Given the description of an element on the screen output the (x, y) to click on. 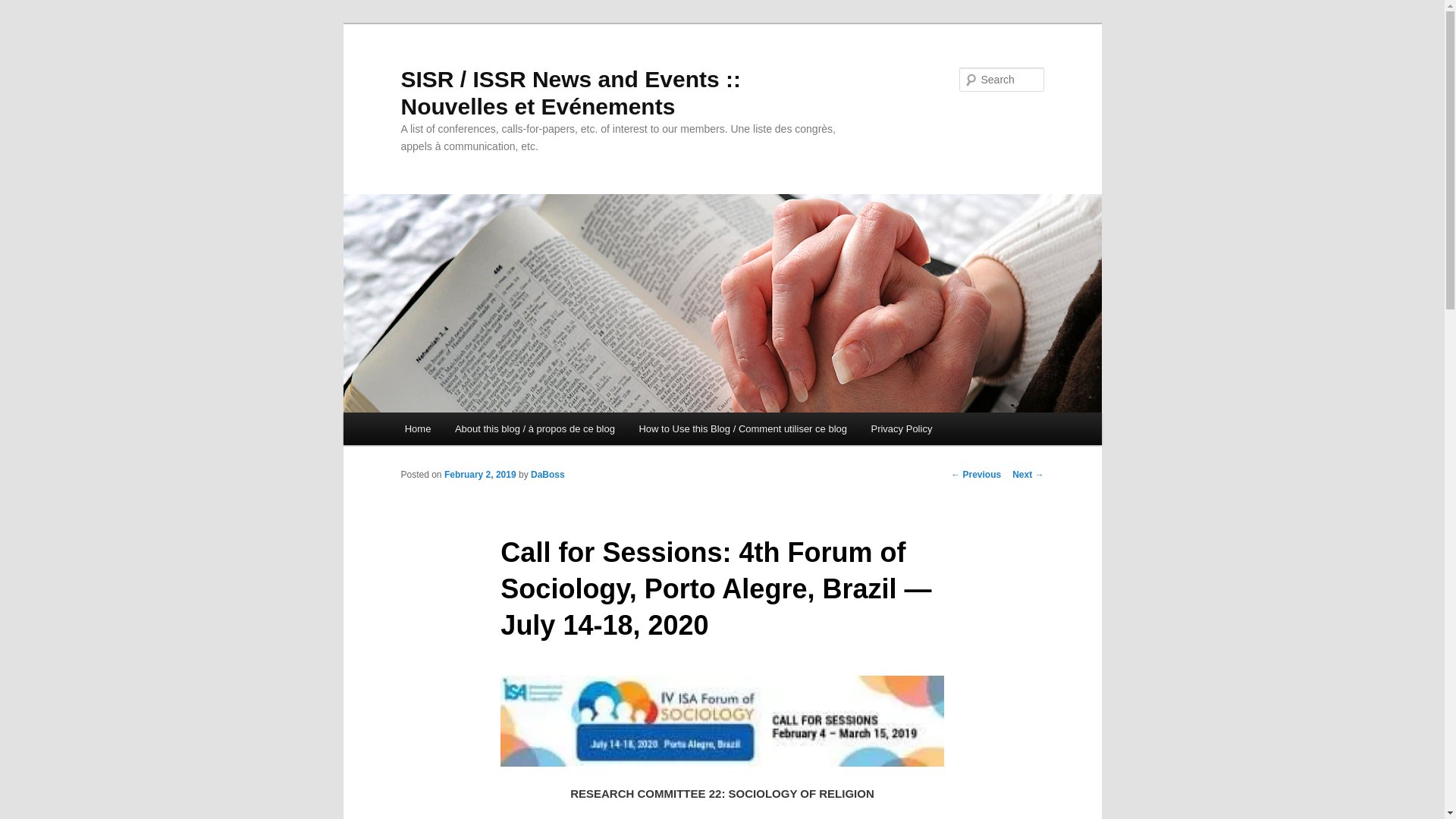
Privacy Policy (901, 428)
View all posts by DaBoss (547, 474)
Search (24, 8)
Home (417, 428)
February 2, 2019 (480, 474)
4:17 pm (480, 474)
DaBoss (547, 474)
